Given the description of an element on the screen output the (x, y) to click on. 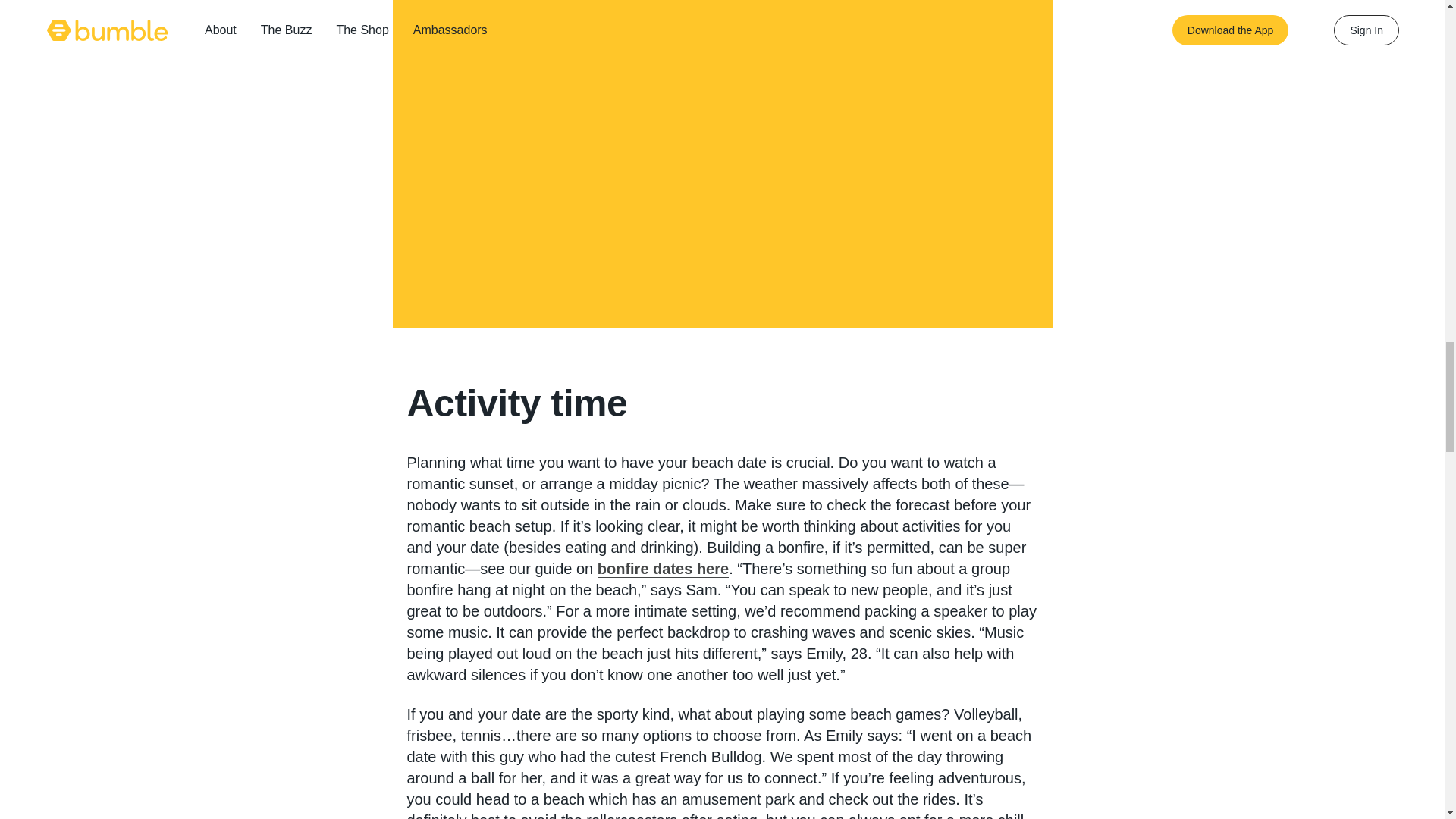
bonfire dates here (662, 569)
